Given the description of an element on the screen output the (x, y) to click on. 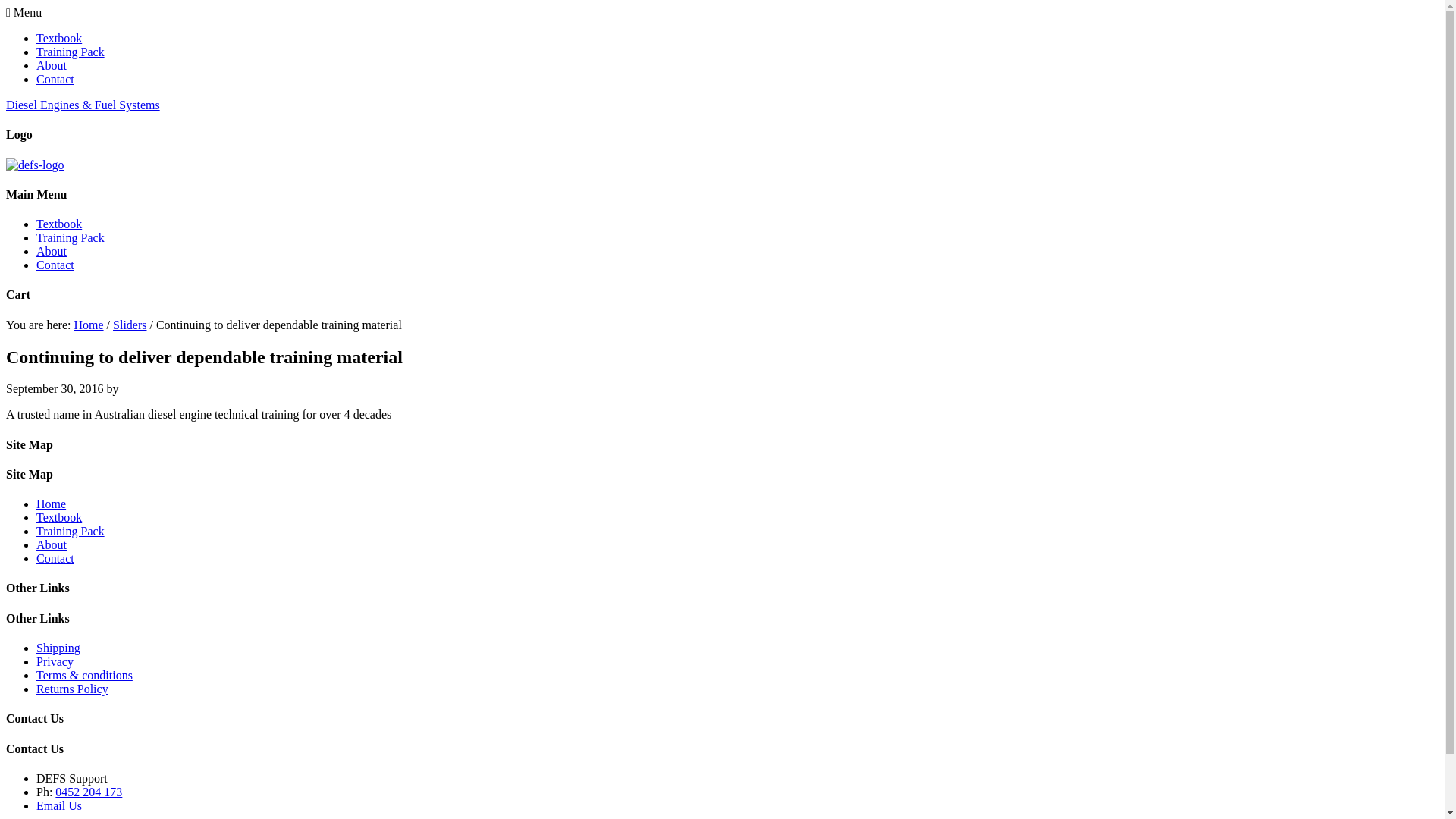
Privacy Element type: text (54, 661)
Training Pack Element type: text (70, 237)
Returns Policy Element type: text (72, 688)
Contact Element type: text (55, 264)
Home Element type: text (50, 503)
About Element type: text (51, 250)
Sliders Element type: text (129, 324)
About Element type: text (51, 544)
Training Pack Element type: text (70, 530)
0452 204 173 Element type: text (88, 791)
About Element type: text (51, 65)
Diesel Engines & Fuel Systems Element type: text (83, 104)
Email Us Element type: text (58, 805)
Home Element type: text (88, 324)
Training Pack Element type: text (70, 51)
Textbook Element type: text (58, 223)
Textbook Element type: text (58, 517)
Contact Element type: text (55, 78)
Textbook Element type: text (58, 37)
Terms & conditions Element type: text (84, 674)
Contact Element type: text (55, 558)
Shipping Element type: text (58, 647)
